Given the description of an element on the screen output the (x, y) to click on. 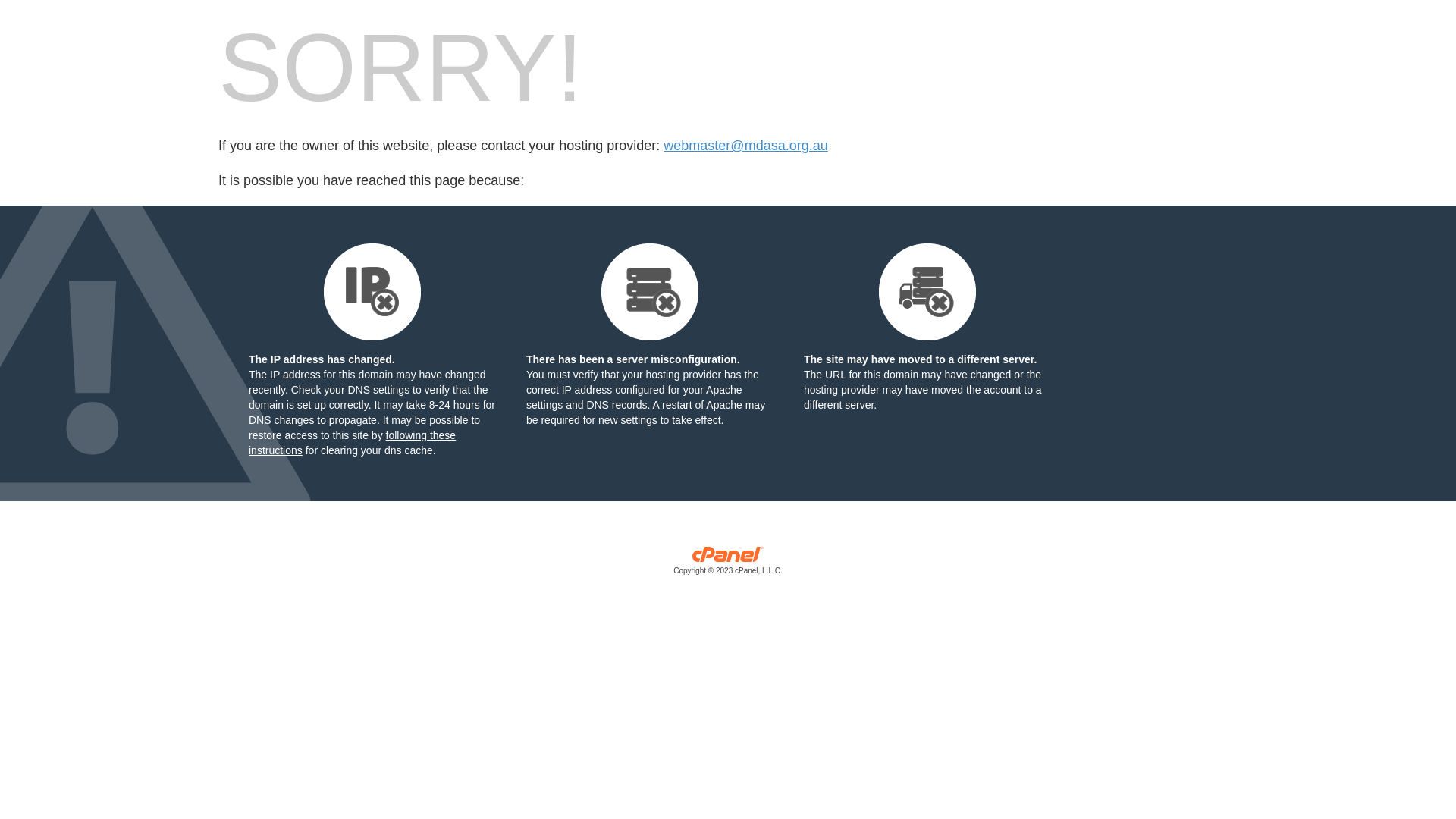
webmaster@mdasa.org.au Element type: text (745, 145)
following these instructions Element type: text (351, 442)
